Given the description of an element on the screen output the (x, y) to click on. 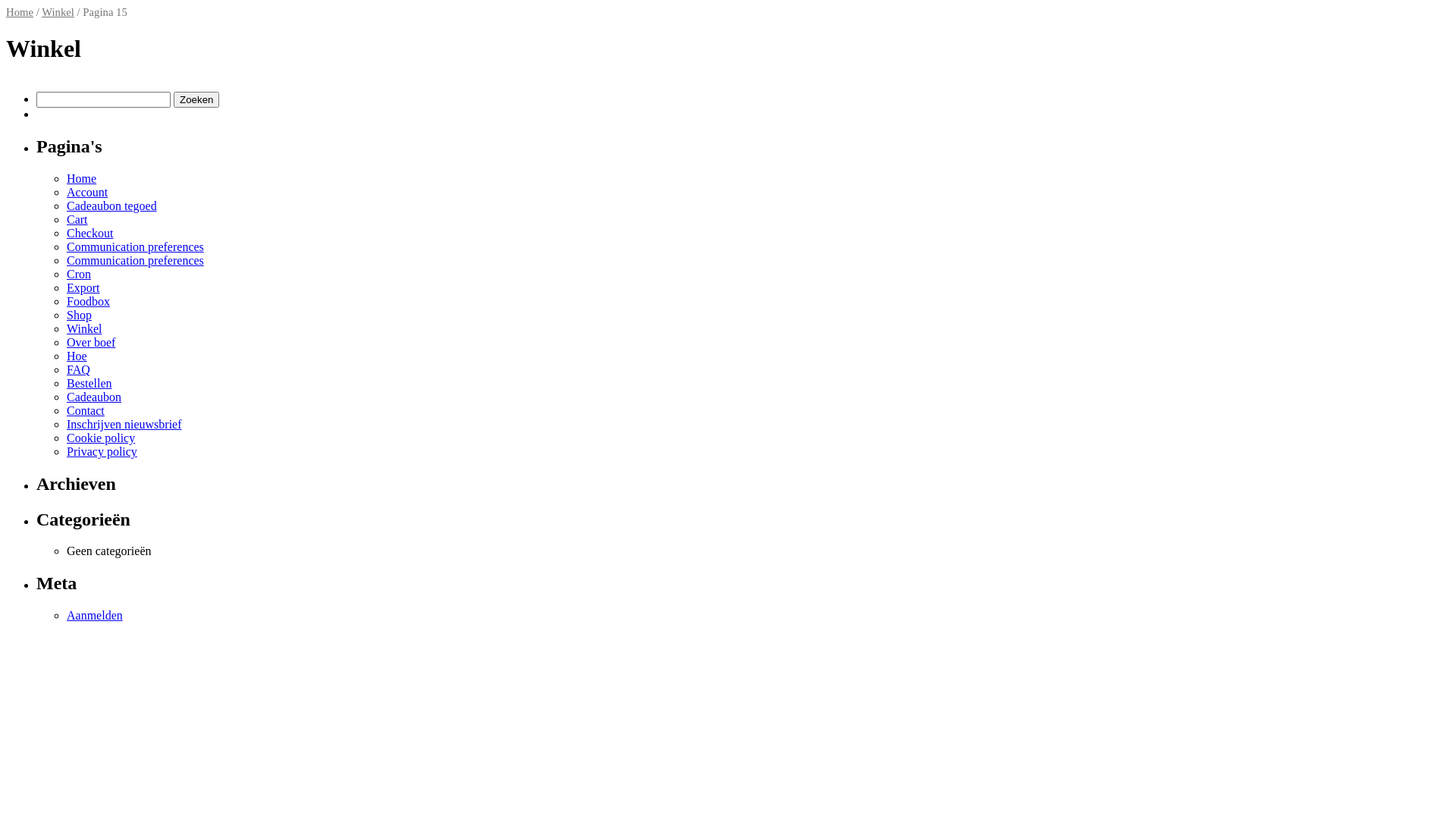
Shop Element type: text (78, 314)
Zoeken Element type: text (196, 99)
Communication preferences Element type: text (134, 260)
Export Element type: text (83, 287)
Foodbox Element type: text (87, 300)
Winkel Element type: text (57, 12)
Checkout Element type: text (89, 232)
Cadeaubon Element type: text (93, 396)
Winkel Element type: text (83, 328)
Cart Element type: text (76, 219)
Over boef Element type: text (90, 341)
Contact Element type: text (85, 410)
Communication preferences Element type: text (134, 246)
Aanmelden Element type: text (94, 614)
Cookie policy Element type: text (100, 437)
Privacy policy Element type: text (101, 451)
Bestellen Element type: text (89, 382)
Home Element type: text (81, 178)
Hoe Element type: text (76, 355)
Home Element type: text (19, 12)
Cadeaubon tegoed Element type: text (111, 205)
Inschrijven nieuwsbrief Element type: text (124, 423)
Cron Element type: text (78, 273)
FAQ Element type: text (78, 369)
Account Element type: text (86, 191)
